Given the description of an element on the screen output the (x, y) to click on. 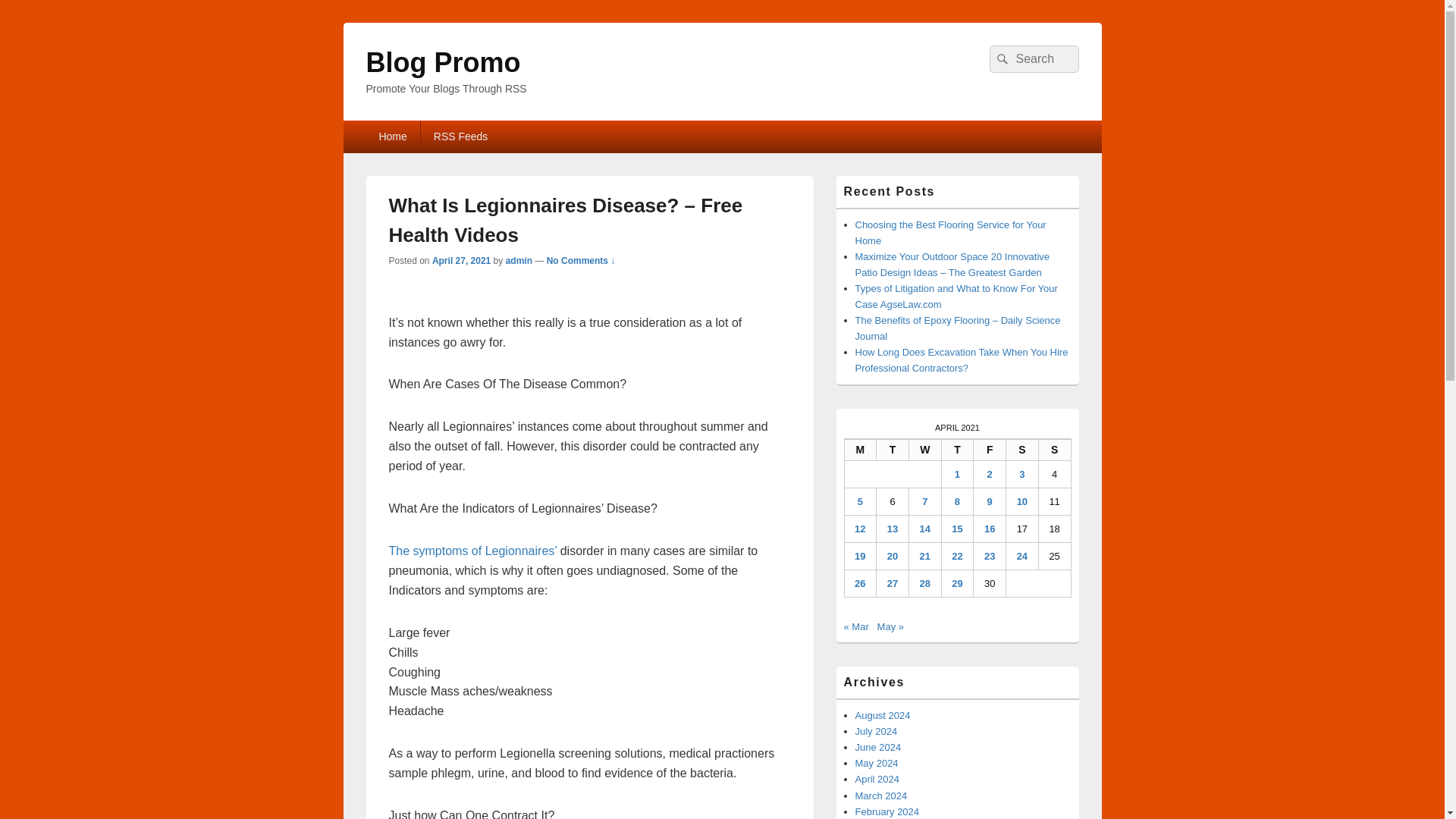
View all posts by admin (518, 260)
7:17 am (461, 260)
19 (859, 555)
14 (925, 528)
Tuesday (892, 449)
Friday (990, 449)
12 (859, 528)
10 (1021, 501)
16 (989, 528)
